Given the description of an element on the screen output the (x, y) to click on. 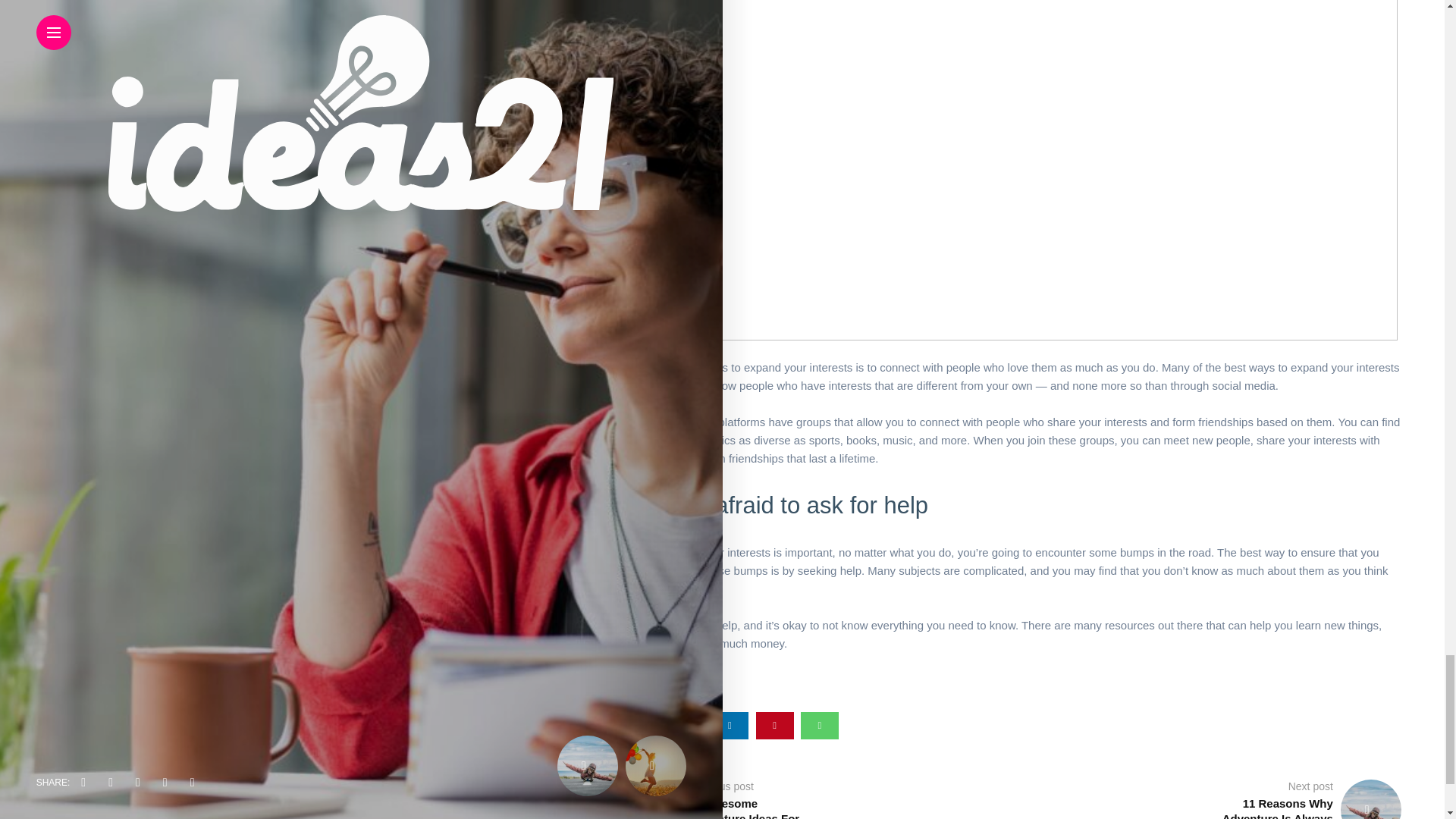
facebook (640, 725)
